Given the description of an element on the screen output the (x, y) to click on. 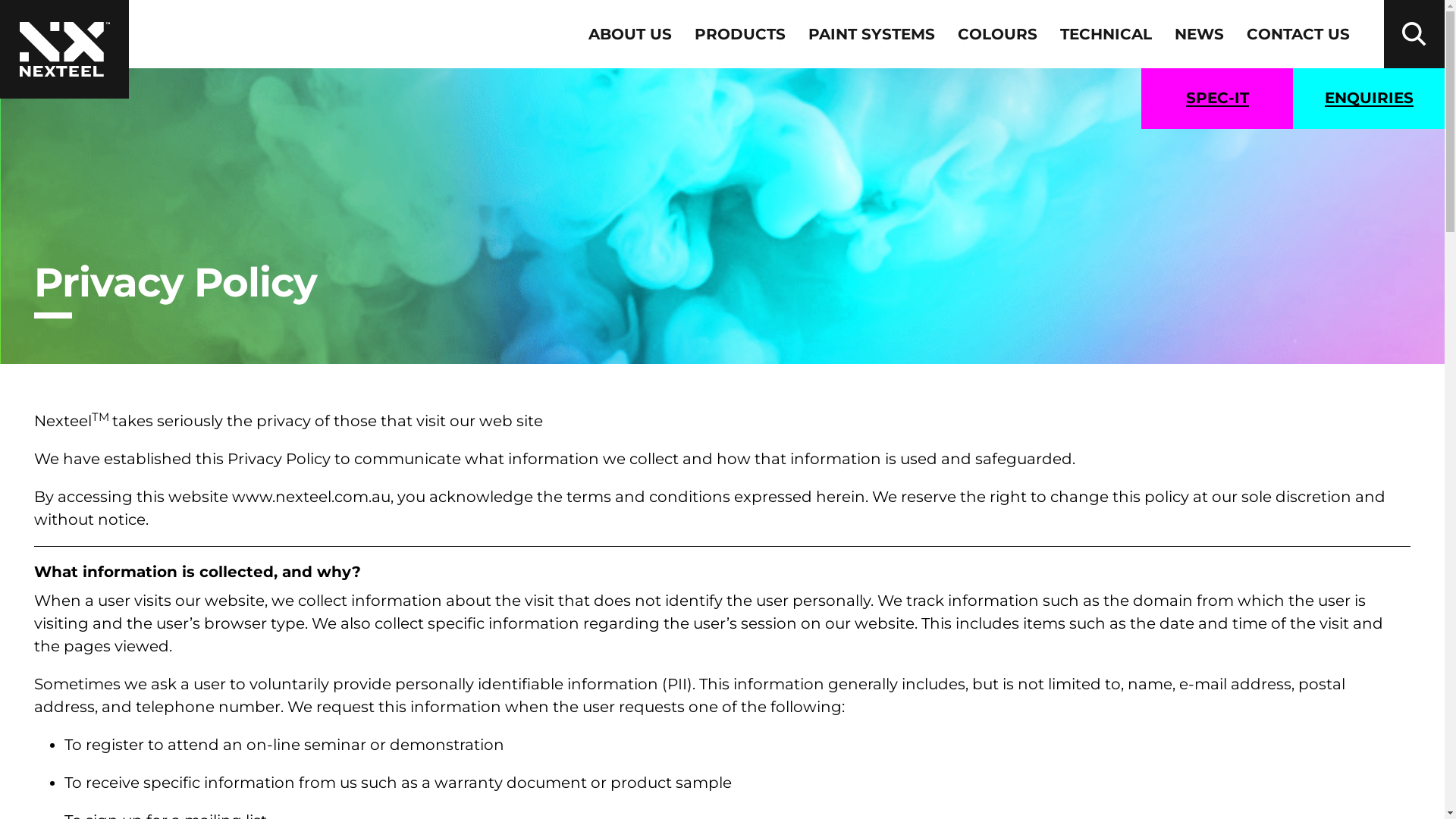
NEWS Element type: text (1198, 33)
PAINT SYSTEMS Element type: text (871, 33)
TECHNICAL Element type: text (1105, 33)
COLOURS Element type: text (997, 33)
Search Element type: text (1413, 34)
ABOUT US Element type: text (629, 33)
SPEC-IT Element type: text (1216, 98)
CONTACT US Element type: text (1297, 33)
ENQUIRIES Element type: text (1368, 98)
PRODUCTS Element type: text (739, 33)
